Given the description of an element on the screen output the (x, y) to click on. 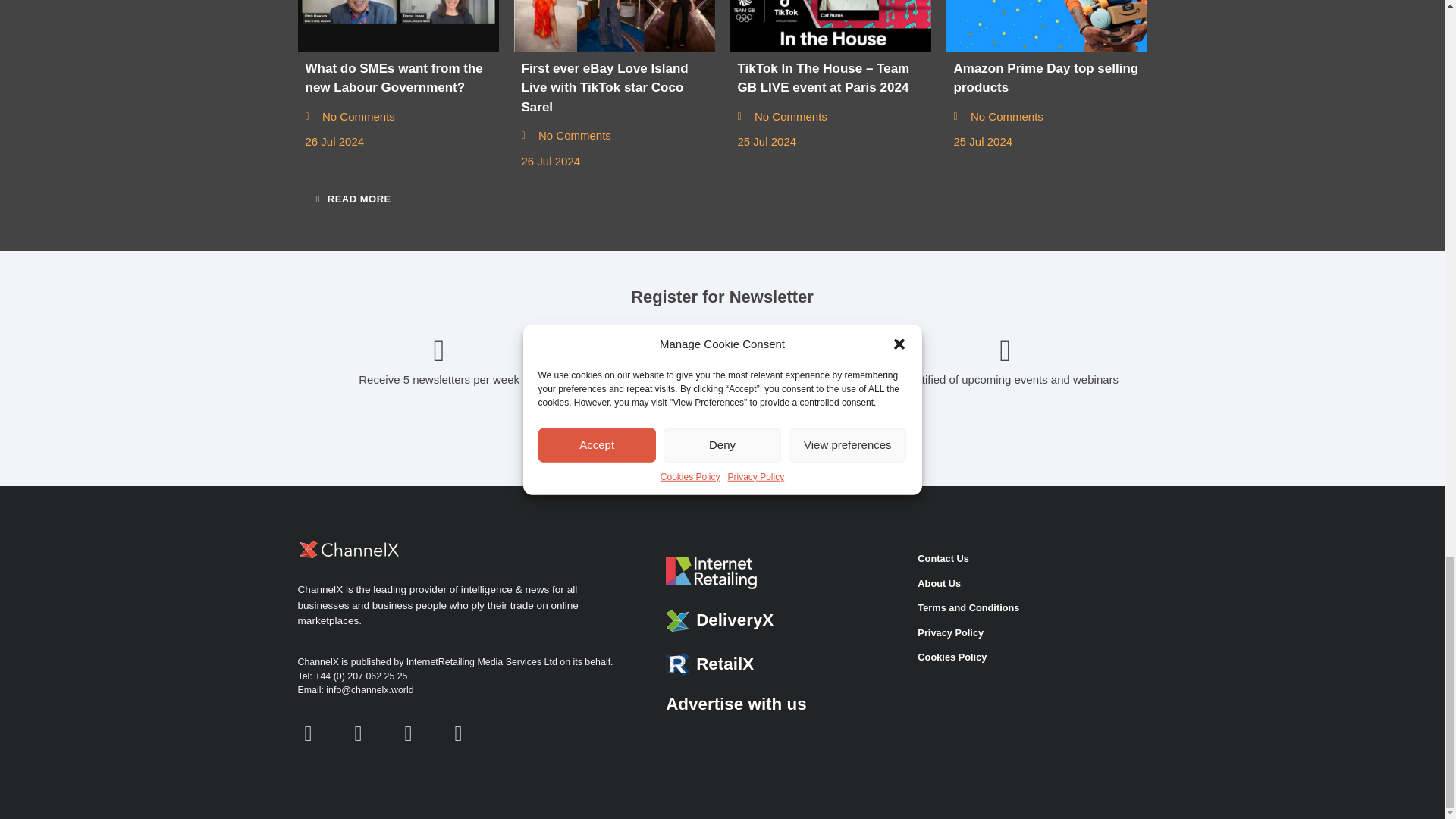
First ever eBay Love Island Live with TikTok star Coco Sarel (613, 25)
Prime Big Deal Days 2023 is live! (1046, 25)
